Given the description of an element on the screen output the (x, y) to click on. 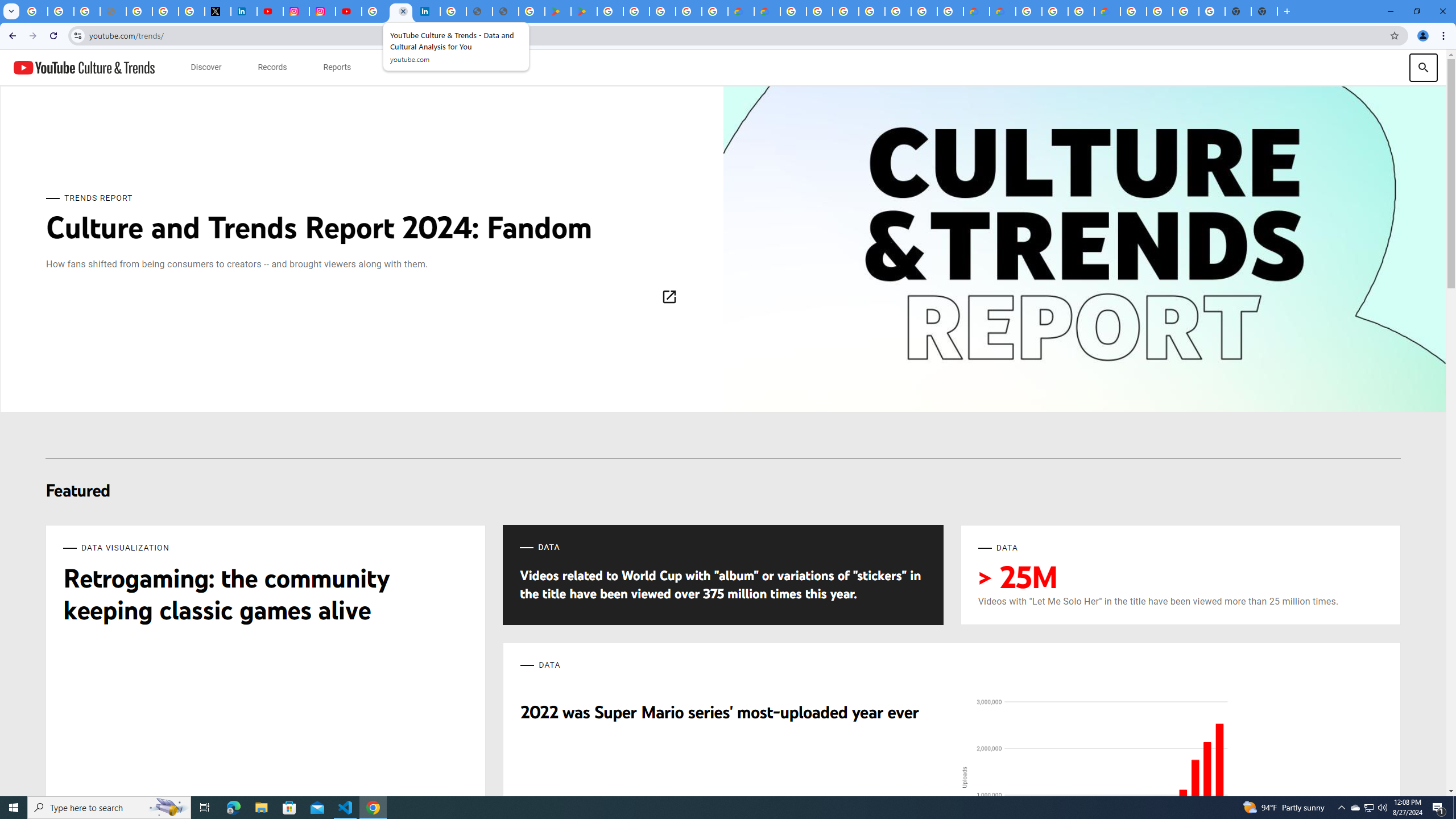
Browse Chrome as a guest - Computer - Google Chrome Help (1054, 11)
google_privacy_policy_en.pdf (479, 11)
JUMP TO CONTENT (118, 67)
X (217, 11)
